Given the description of an element on the screen output the (x, y) to click on. 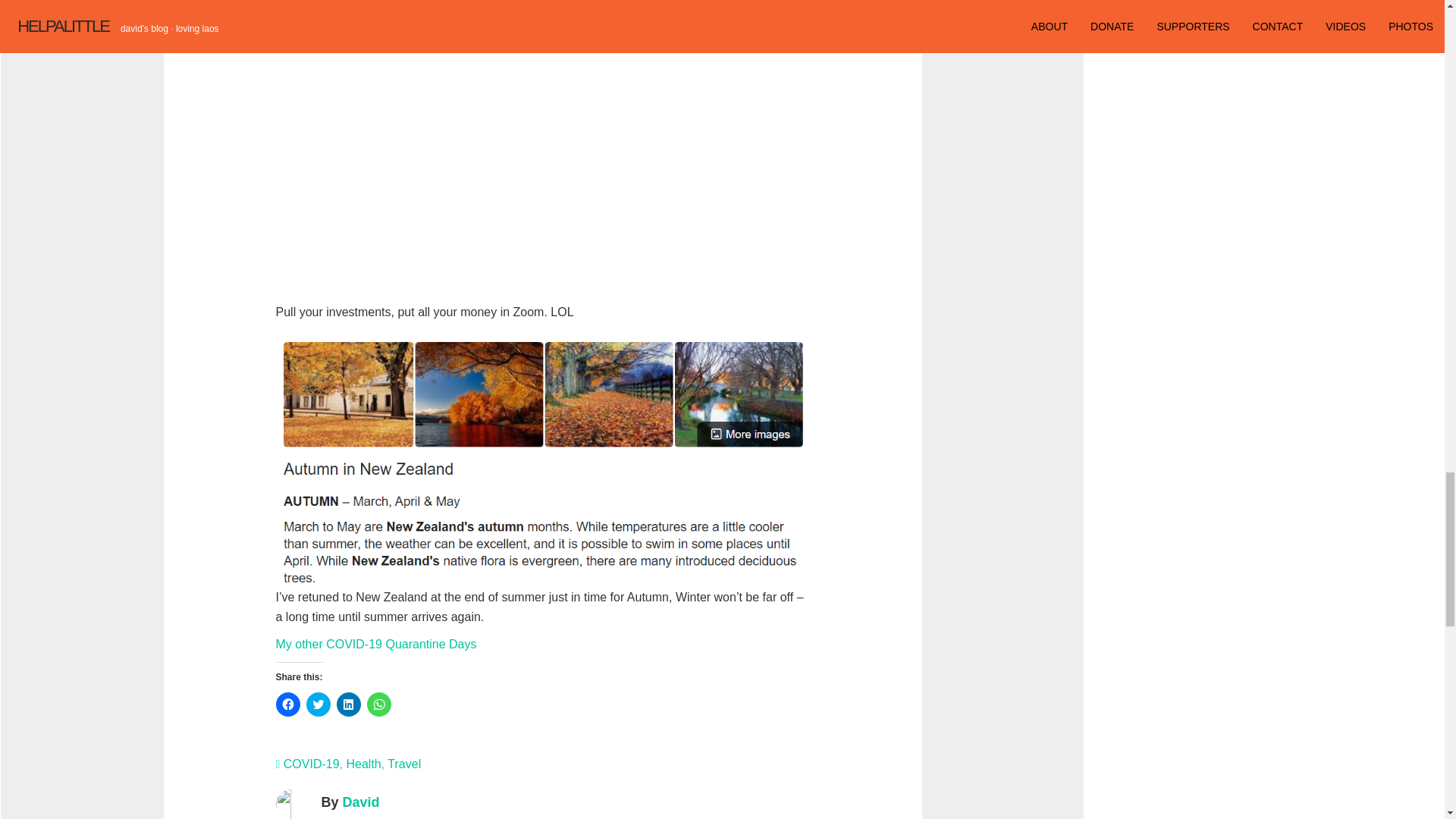
Click to share on LinkedIn (348, 704)
Click to share on Twitter (317, 704)
David (361, 801)
Click to share on WhatsApp (378, 704)
My other COVID-19 Quarantine Days (376, 644)
Click to share on Facebook (287, 704)
Posts by David (361, 801)
COVID-19 (311, 763)
Health (363, 763)
